Given the description of an element on the screen output the (x, y) to click on. 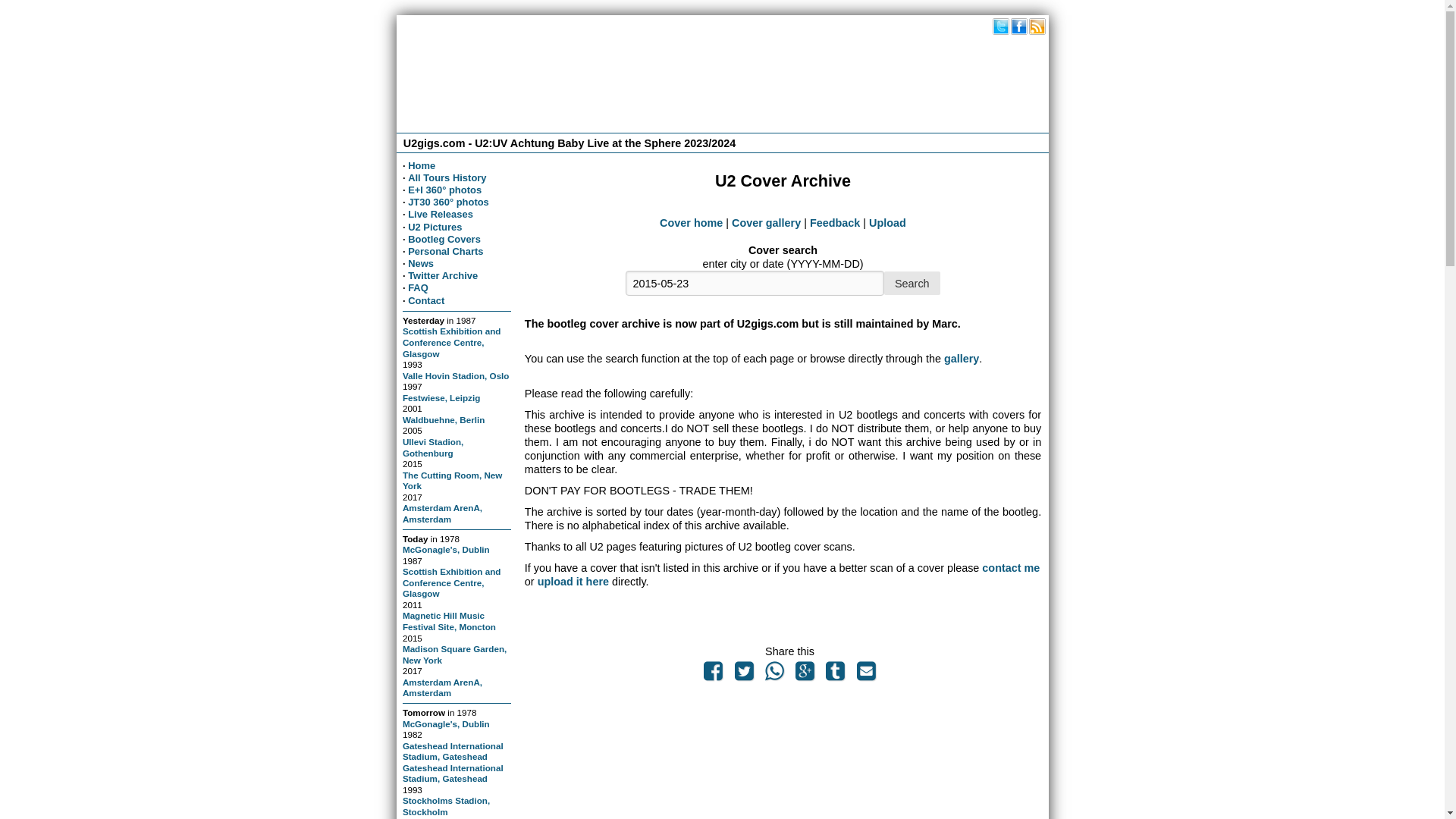
McGonagle's, Dublin (446, 549)
Email (865, 674)
WhatsApp (773, 674)
Waldbuehne, Berlin (443, 419)
Twitter (1000, 26)
Tweet (743, 674)
Ullevi Stadion, Gothenburg (433, 446)
All Tours History (446, 177)
News (420, 263)
FAQ (417, 287)
Home (421, 165)
U2 Pictures (434, 226)
McGonagle's, Dublin (446, 723)
Facebook (1018, 26)
Contact (425, 300)
